Given the description of an element on the screen output the (x, y) to click on. 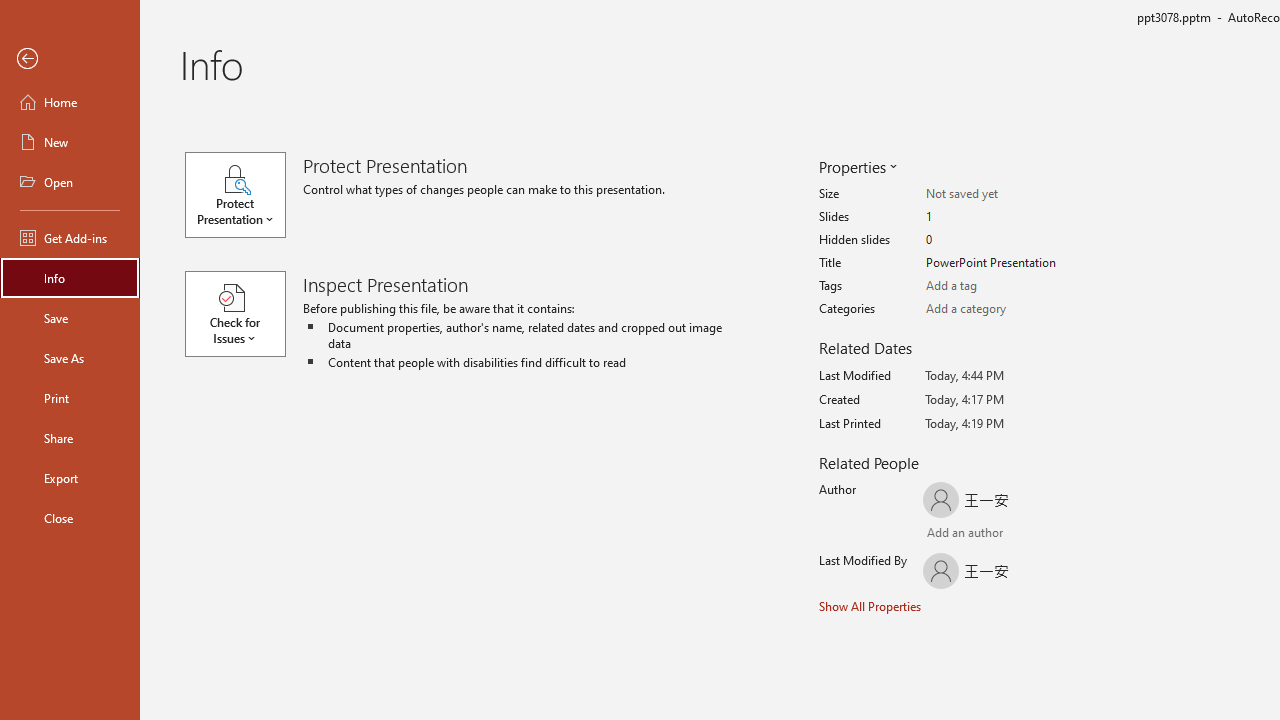
Title (1003, 263)
Export (69, 477)
Add an author (946, 534)
Tags (1003, 286)
Hidden slides (1003, 240)
Print (69, 398)
Show All Properties (870, 606)
Browse Address Book (1047, 534)
Categories (1003, 309)
